Given the description of an element on the screen output the (x, y) to click on. 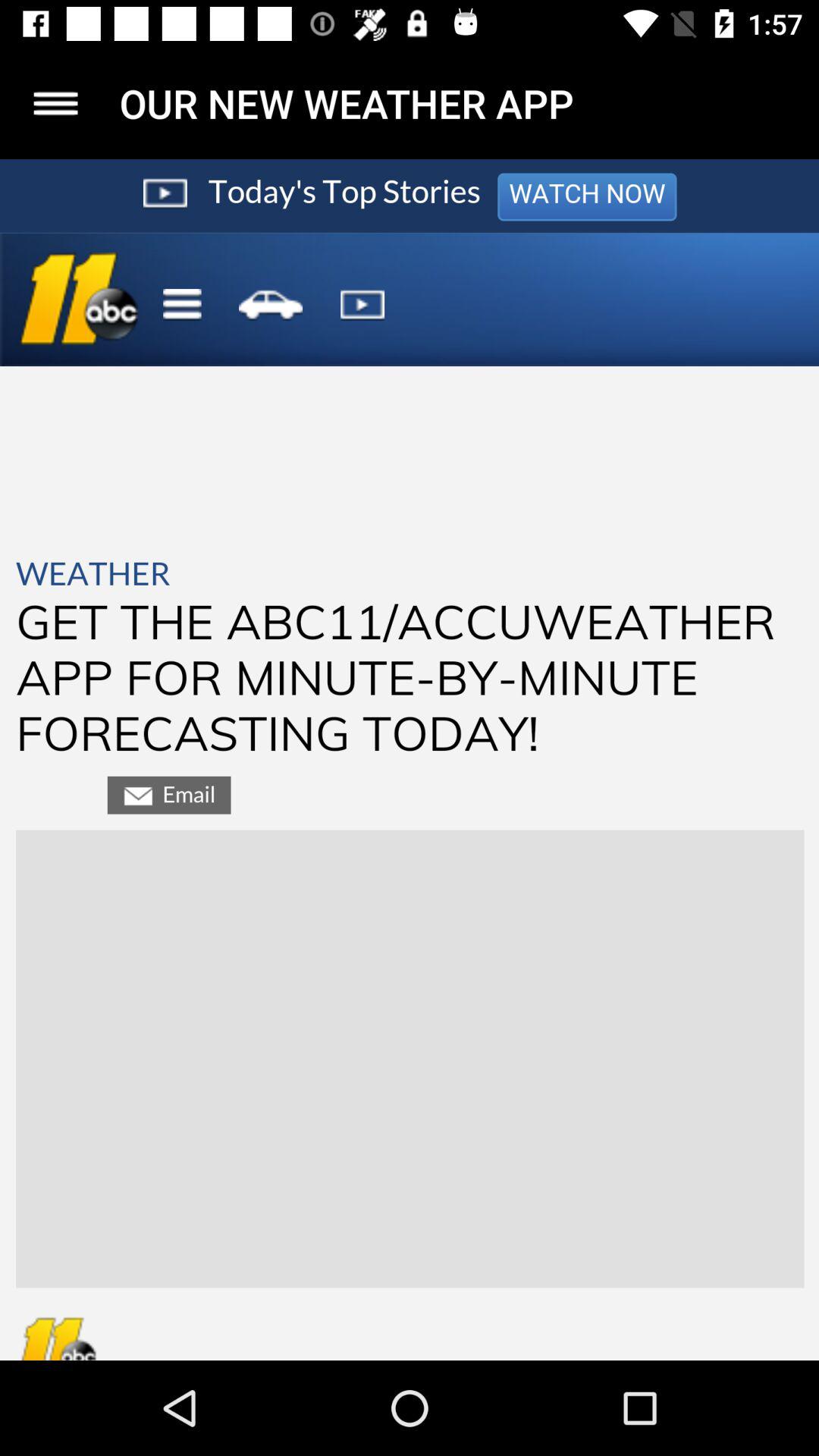
open menu (55, 103)
